Given the description of an element on the screen output the (x, y) to click on. 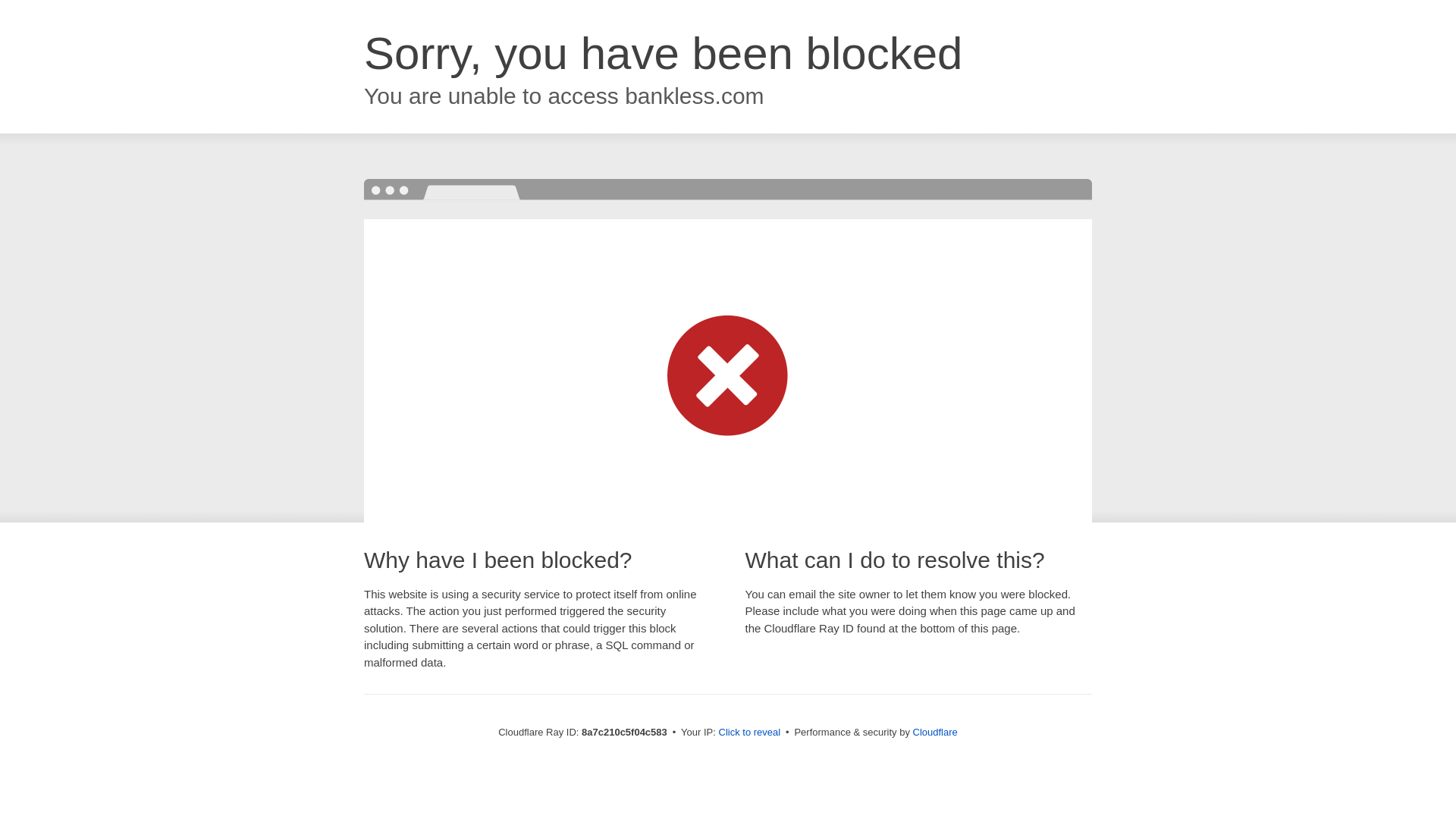
Click to reveal (749, 732)
Cloudflare (935, 731)
